Given the description of an element on the screen output the (x, y) to click on. 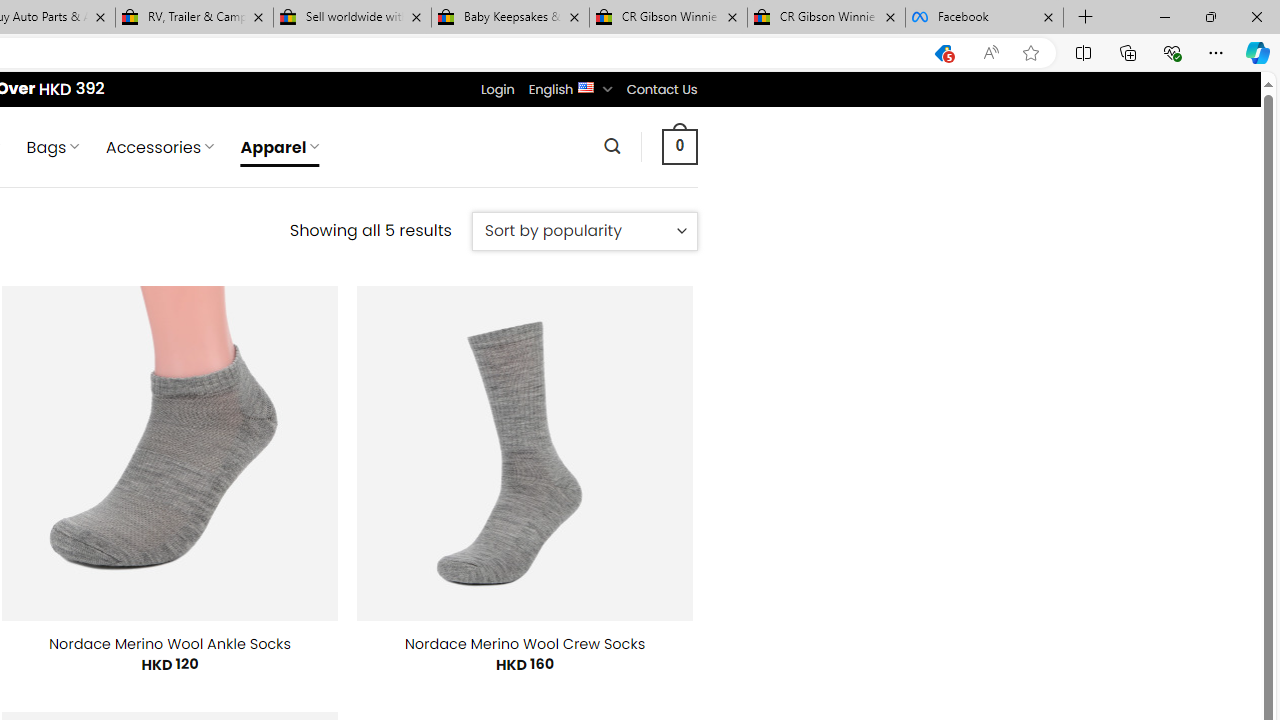
Login (497, 89)
  0   (679, 146)
Facebook (984, 17)
Shop order (584, 231)
Nordace Merino Wool Ankle Socks (169, 643)
Contact Us (661, 89)
